Given the description of an element on the screen output the (x, y) to click on. 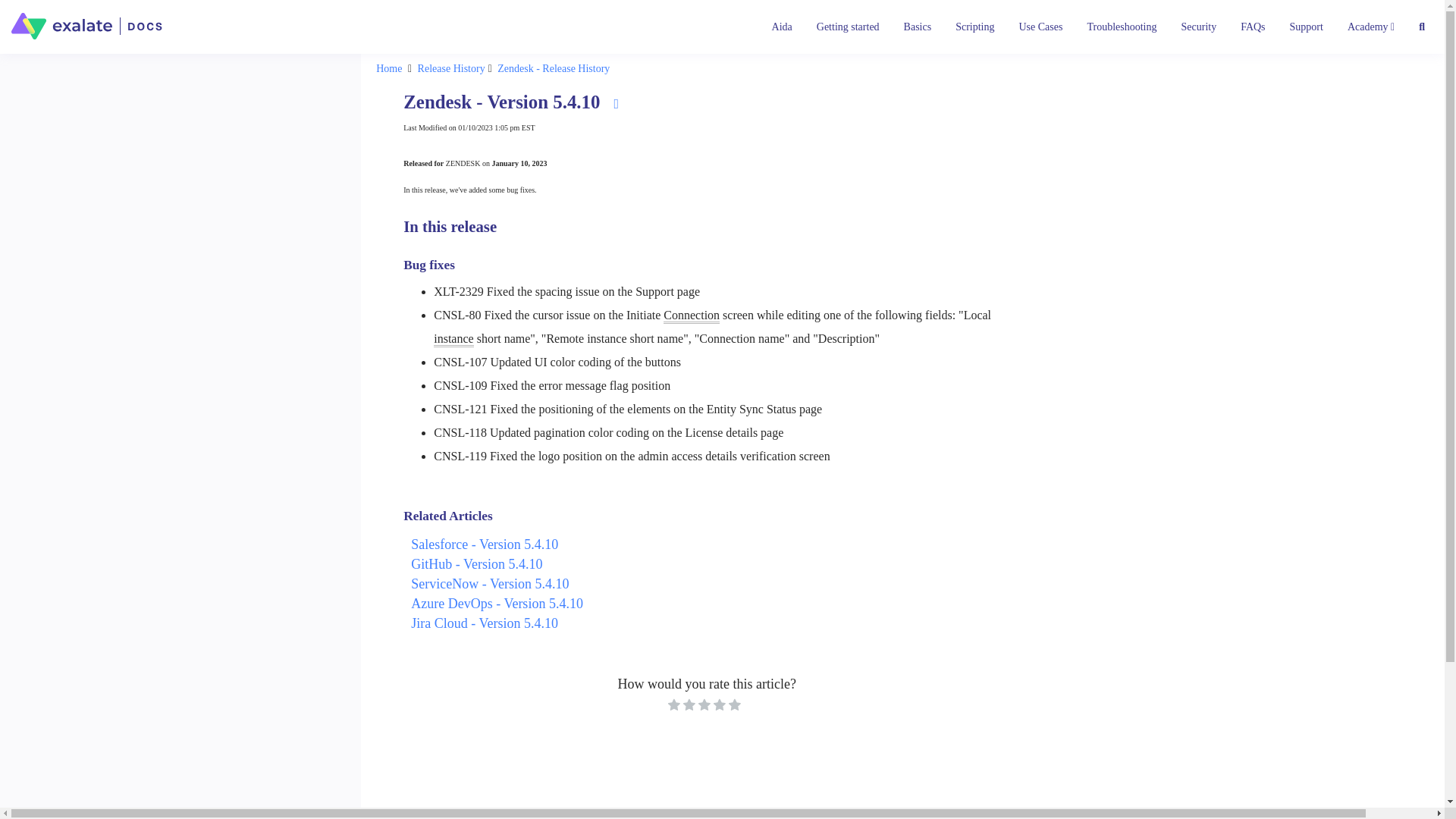
FAQs (1252, 27)
Exalate Academy (1370, 27)
Support (1306, 27)
Academy (1370, 27)
Release History (452, 68)
Exalate Use Cases (1041, 27)
Use Cases (1041, 27)
Exalate FAQ (1252, 27)
Exalate Support (1306, 27)
Security (1198, 27)
Exalate Basics (917, 27)
Exalate Scripting (974, 27)
Download PDF (615, 103)
Exalate Security (1198, 27)
Aida (782, 27)
